Given the description of an element on the screen output the (x, y) to click on. 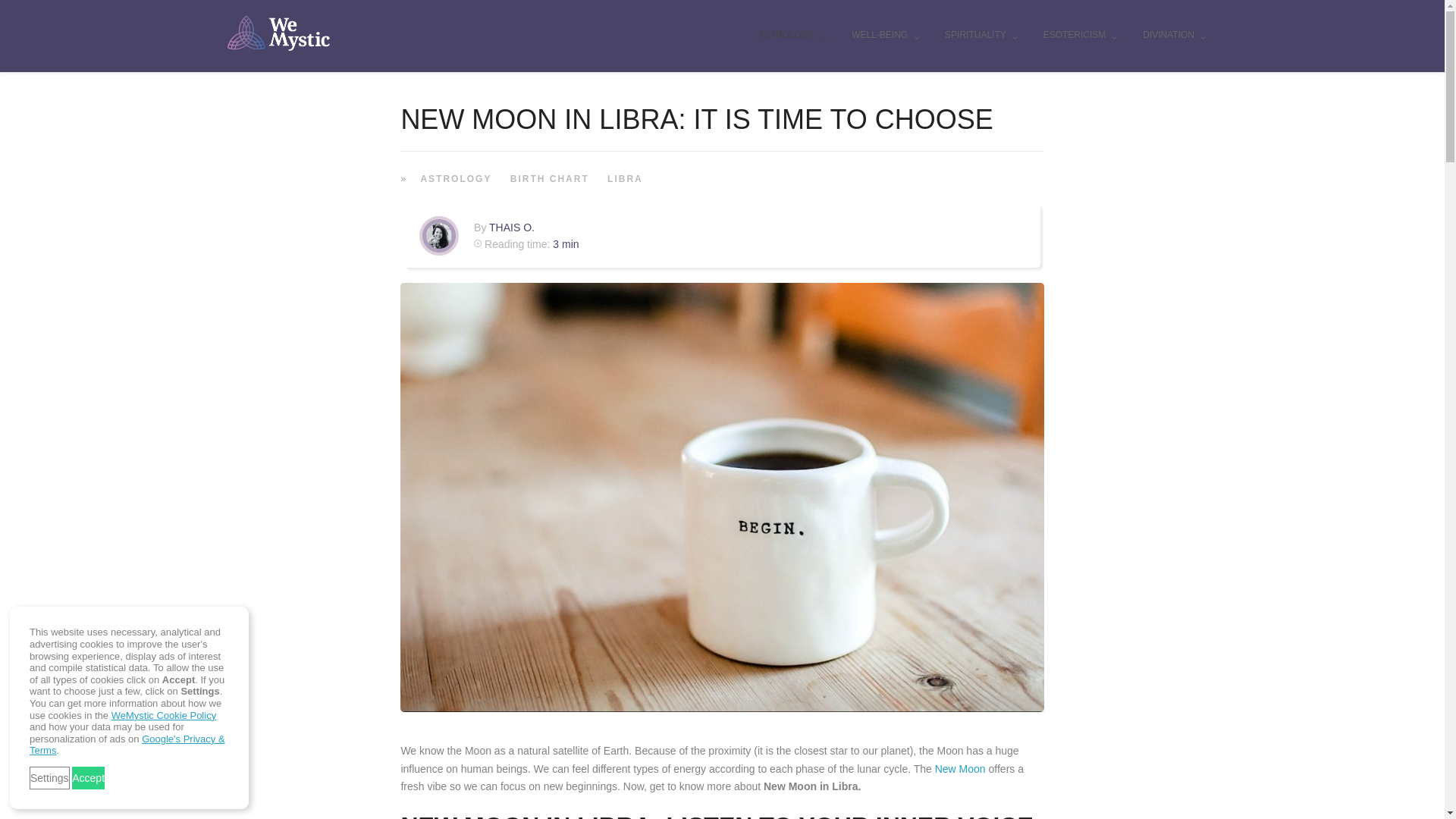
WELL-BEING (885, 35)
LIBRA (622, 177)
THAIS O. (511, 227)
New Moon (959, 768)
BIRTH CHART (547, 177)
ASTROLOGY (453, 177)
ASTROLOGY (792, 35)
